Given the description of an element on the screen output the (x, y) to click on. 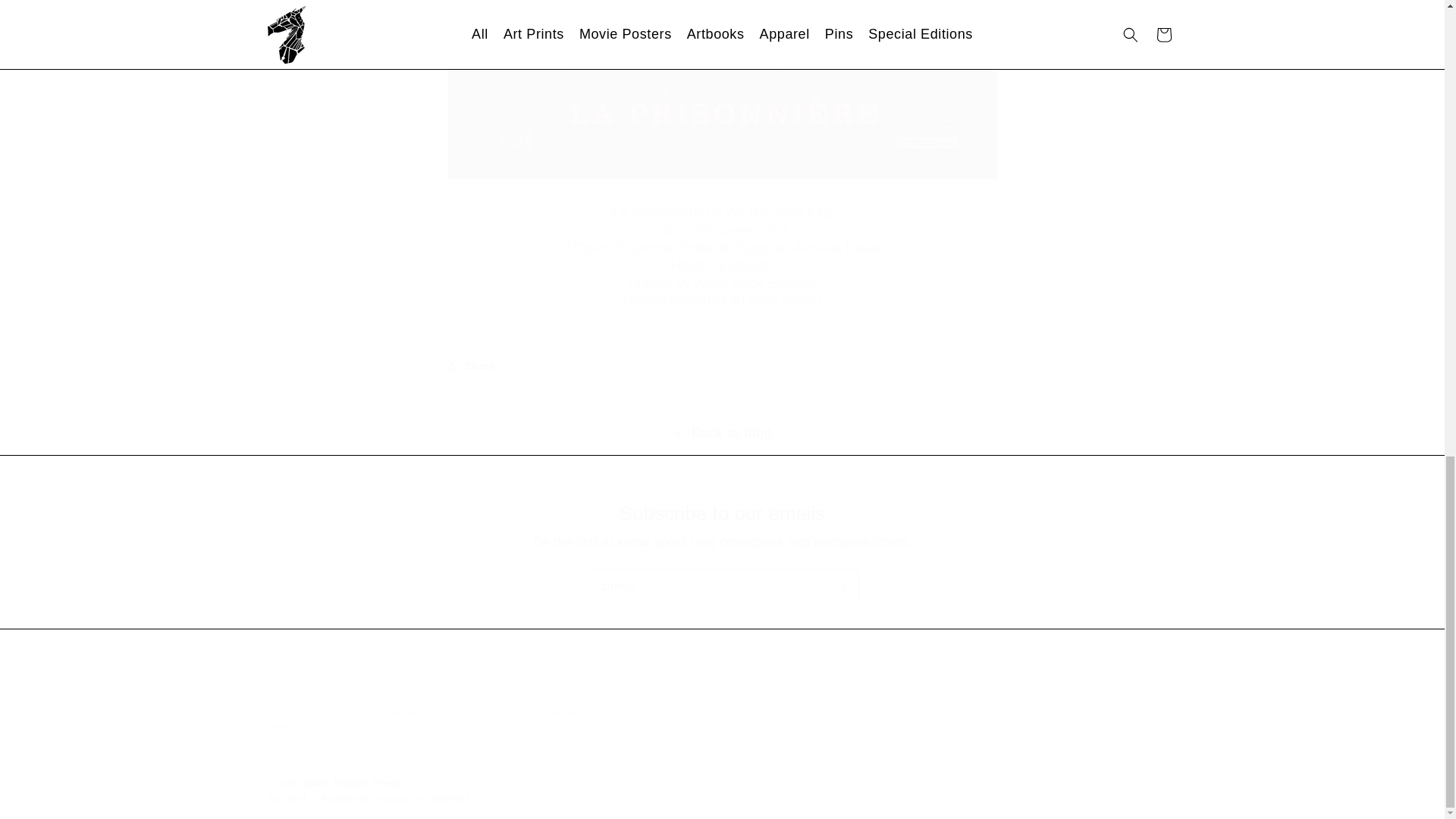
Email (722, 586)
Terms (836, 733)
Customer Reviews (533, 746)
Instagram (539, 712)
Privacy Policy (751, 712)
Share (529, 753)
Archive (721, 366)
